Given the description of an element on the screen output the (x, y) to click on. 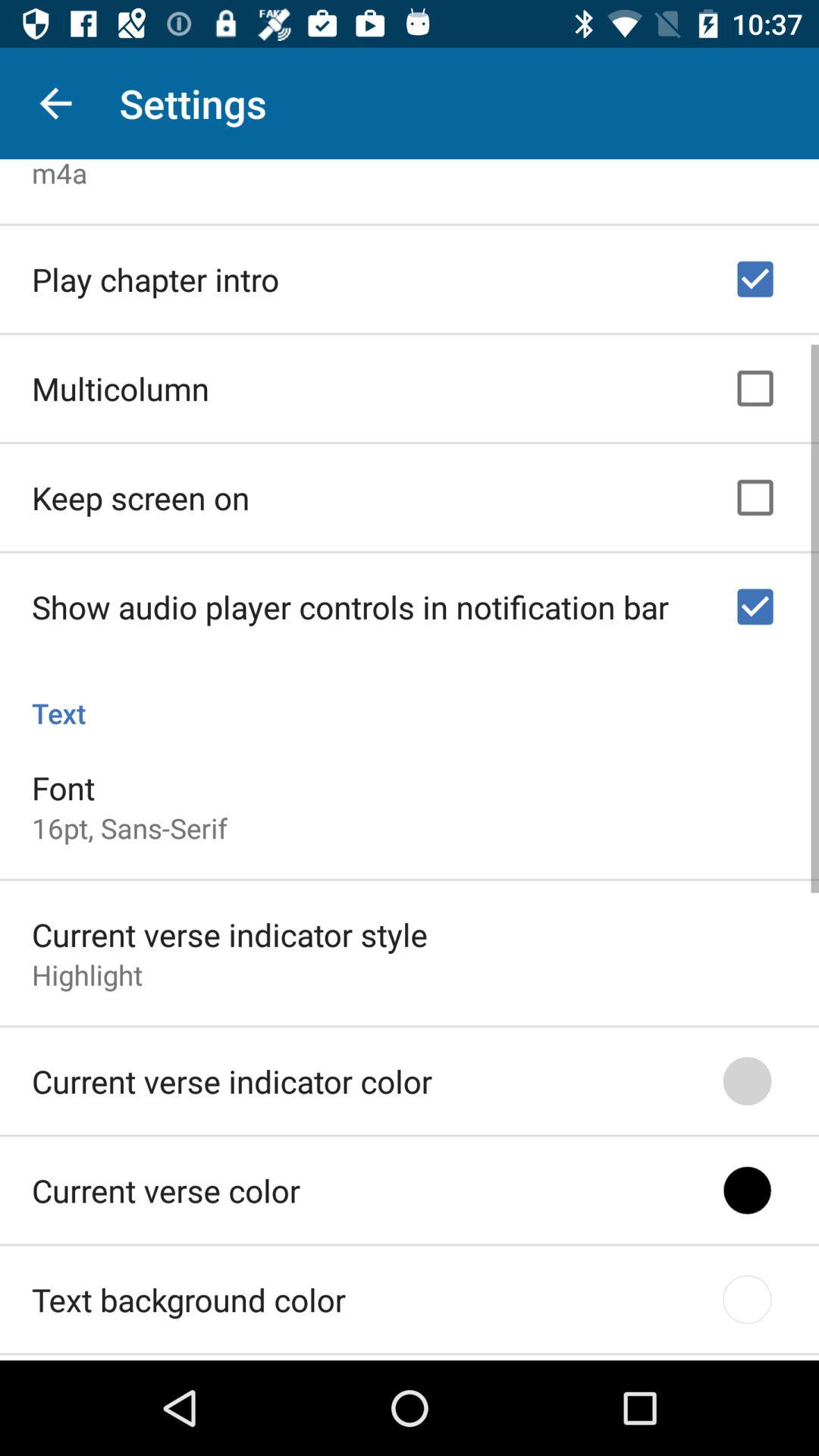
select the font icon (62, 782)
